Given the description of an element on the screen output the (x, y) to click on. 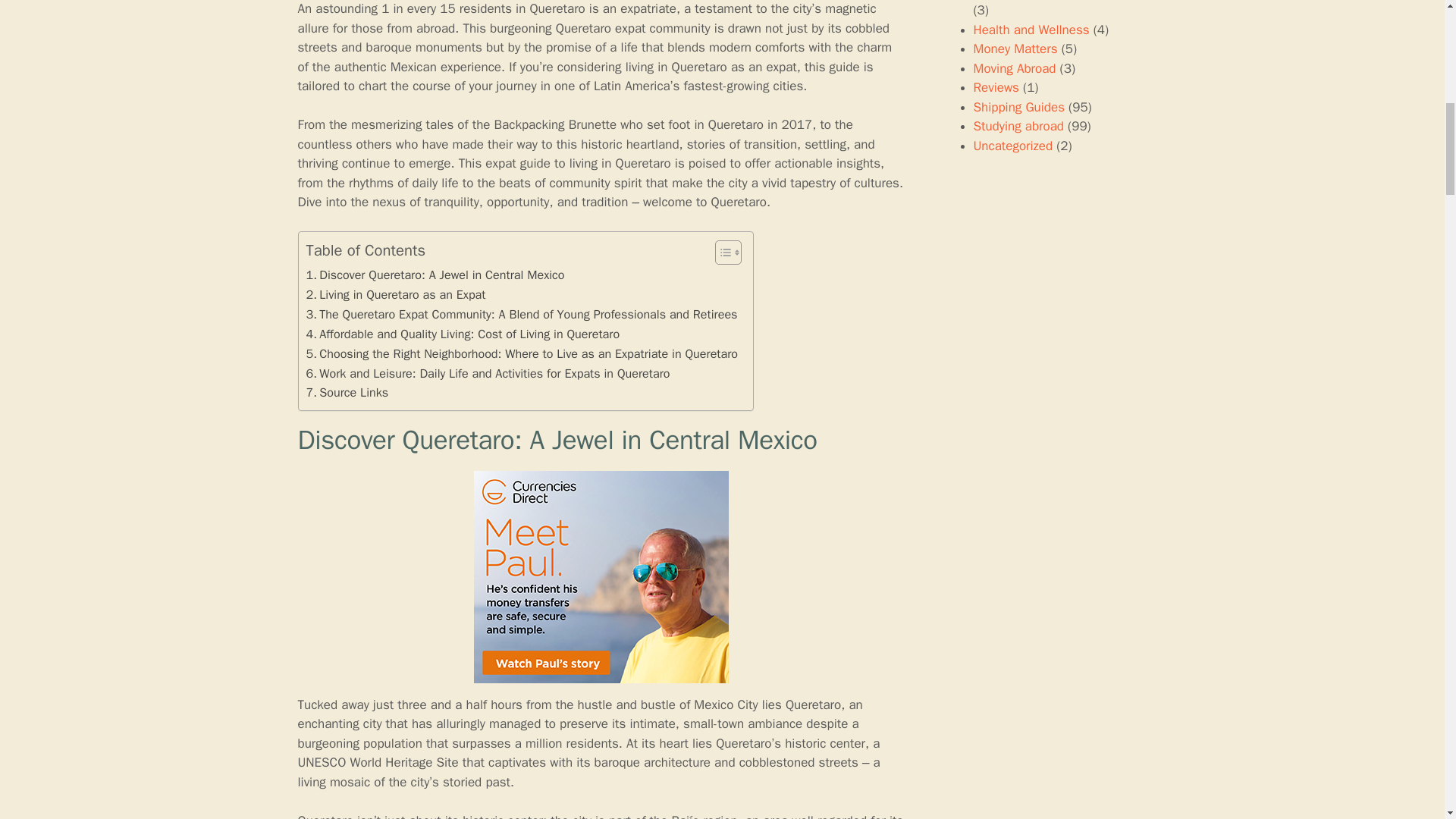
Affordable and Quality Living: Cost of Living in Queretaro (462, 333)
Source Links (346, 392)
Living in Queretaro as an Expat (395, 294)
Discover Queretaro: A Jewel in Central Mexico (434, 275)
